Given the description of an element on the screen output the (x, y) to click on. 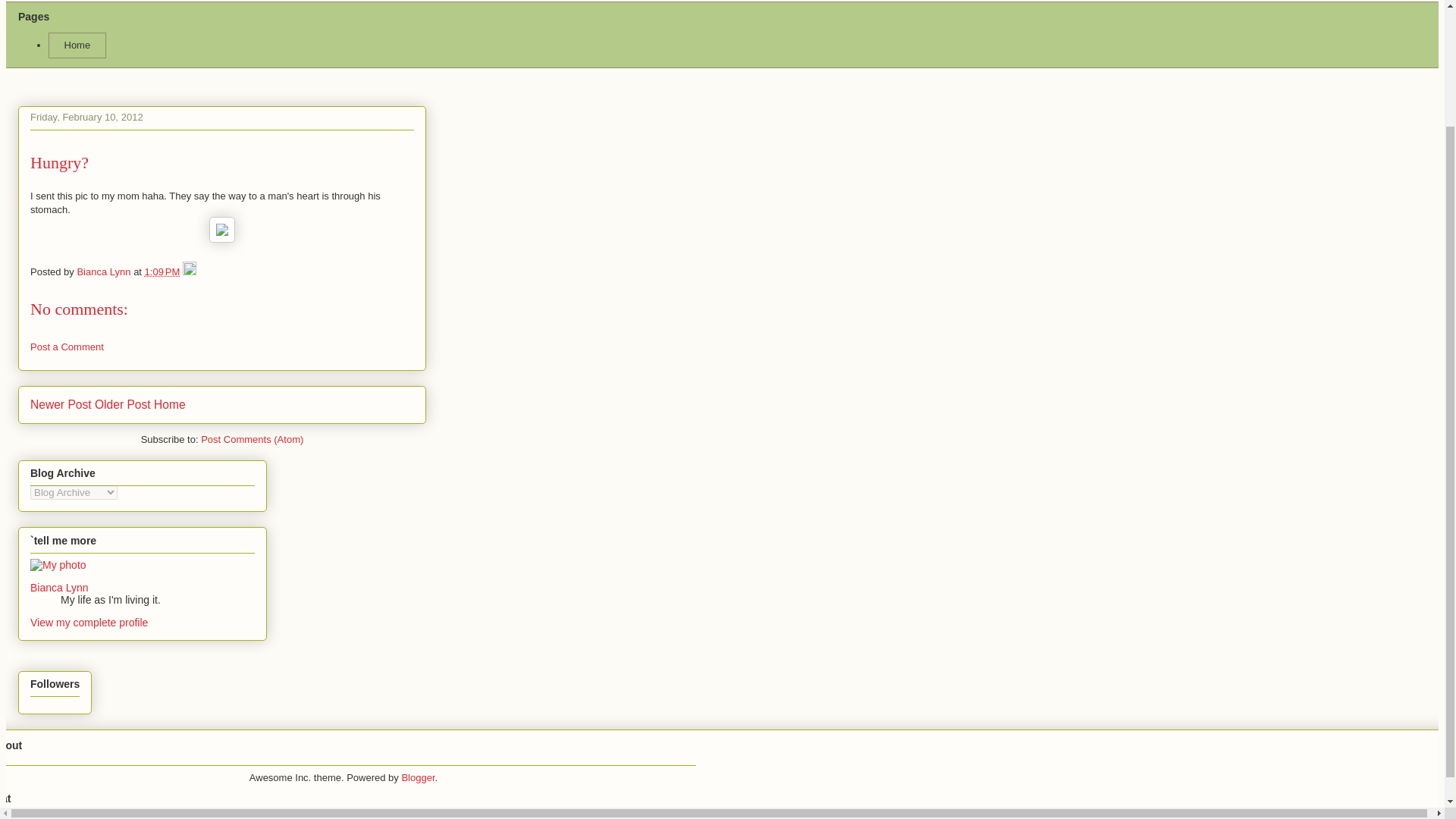
Post a Comment (66, 346)
Blogger (417, 777)
Edit Post (189, 271)
Home (77, 45)
Home (170, 404)
Bianca Lynn (59, 587)
Newer Post (60, 404)
Older Post (122, 404)
permanent link (162, 271)
author profile (105, 271)
View my complete profile (89, 622)
Bianca Lynn (105, 271)
Newer Post (60, 404)
Older Post (122, 404)
